Given the description of an element on the screen output the (x, y) to click on. 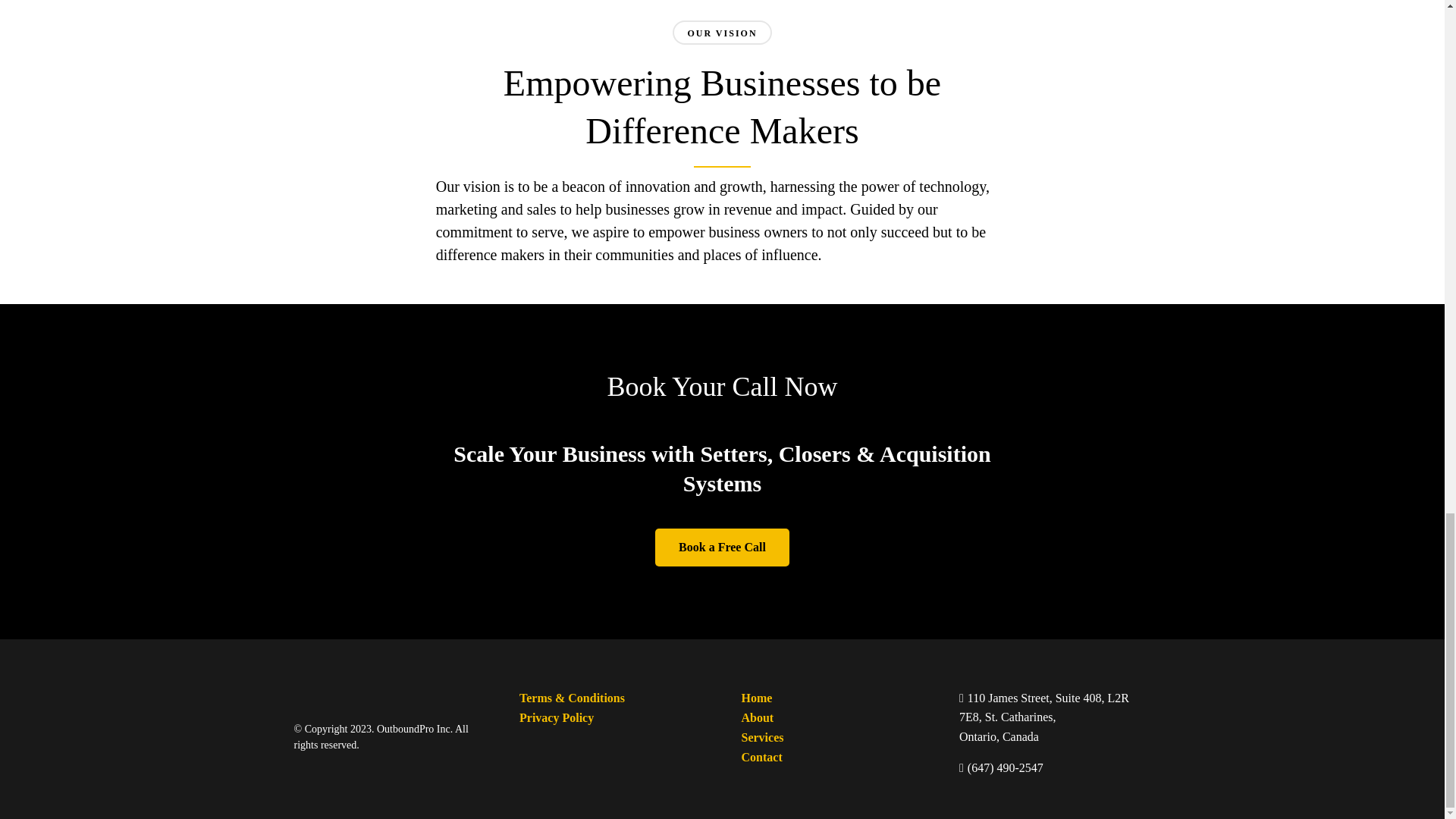
Contact (761, 757)
Book a Free Call (722, 547)
Services (761, 737)
Privacy Policy (555, 718)
OUR VISION (721, 32)
About (756, 718)
Home (756, 698)
